Given the description of an element on the screen output the (x, y) to click on. 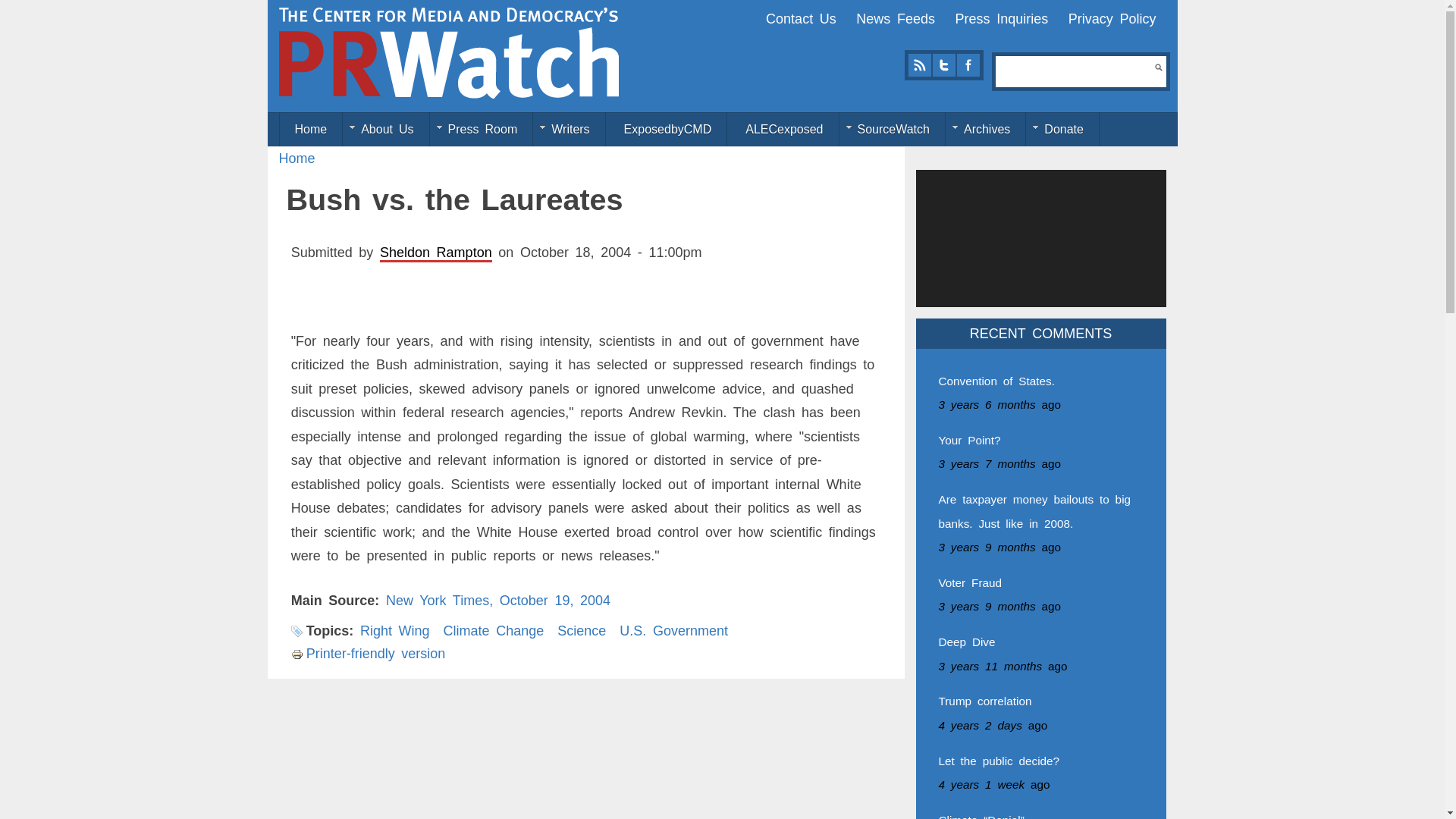
Display a printer-friendly version of this page. (368, 653)
Contact Us (800, 18)
New York Times, October 19, 2004 (497, 600)
Climate Change (494, 630)
Home (311, 129)
News Feeds (895, 18)
Science (581, 630)
Press Inquiries (1001, 18)
Subscribe to CMD's RSS Feeds (919, 64)
Search (1157, 67)
RSS (919, 64)
Right Wing (394, 630)
Printer-friendly version (368, 653)
Search (1157, 67)
Home (297, 158)
